Given the description of an element on the screen output the (x, y) to click on. 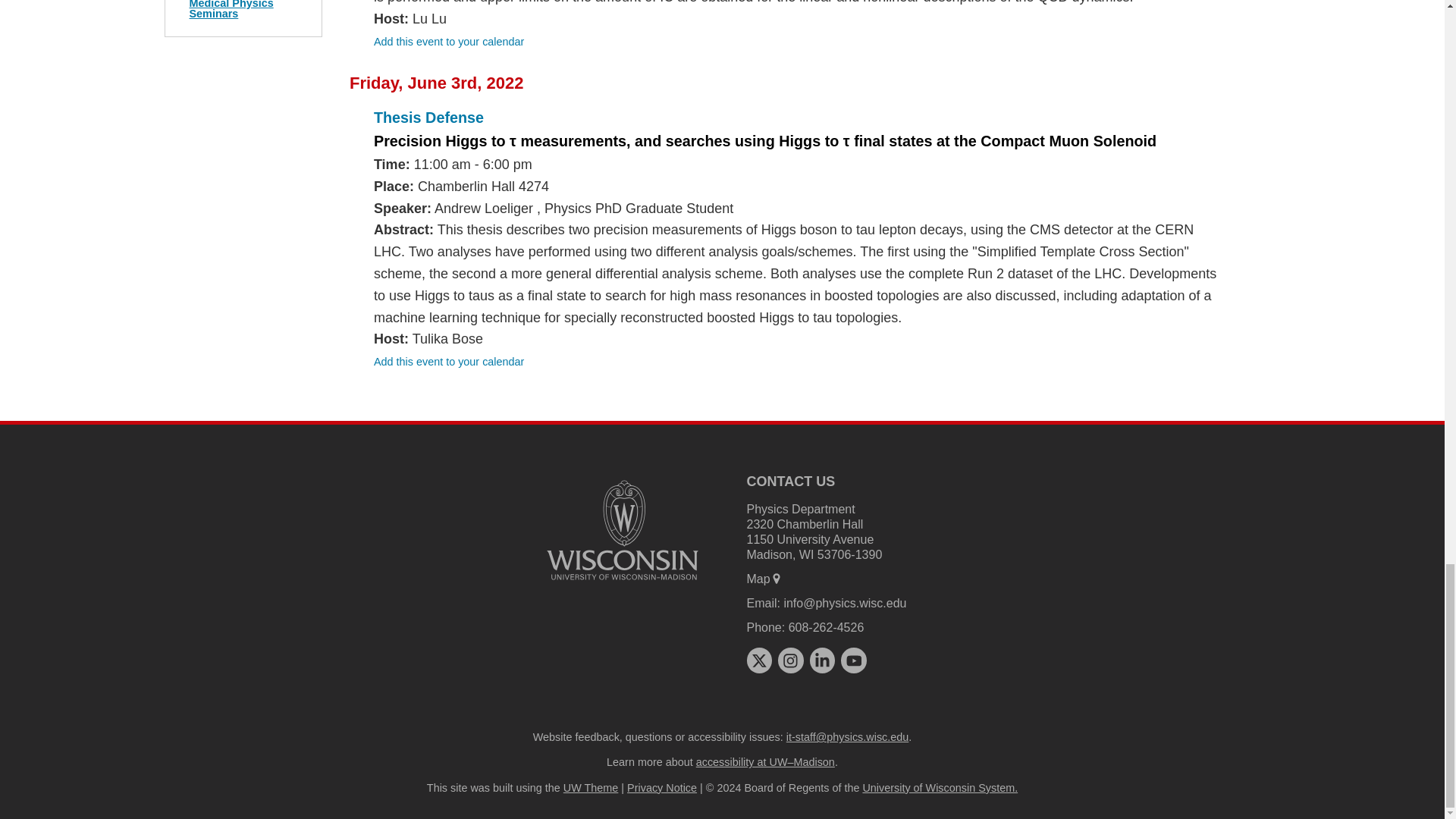
University logo that links to main university website (621, 530)
map marker (776, 578)
x twitter (759, 660)
youtube (853, 660)
linkedin (821, 660)
instagram (790, 660)
